Given the description of an element on the screen output the (x, y) to click on. 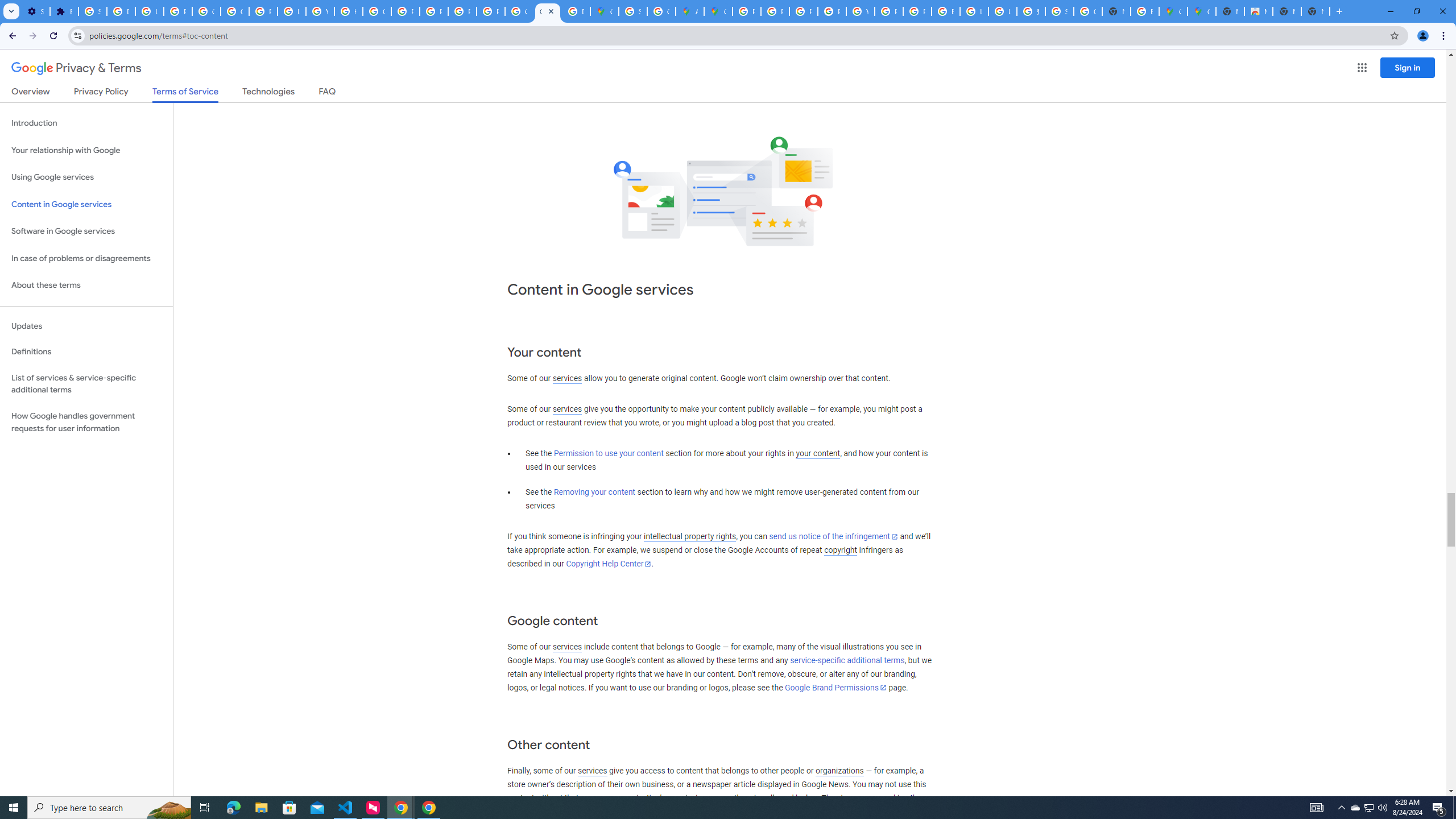
Sign in - Google Accounts (632, 11)
intellectual property rights (689, 536)
Extensions (63, 11)
Browse Chrome as a guest - Computer - Google Chrome Help (945, 11)
List of services & service-specific additional terms (86, 383)
Google Maps (1173, 11)
Google Maps (718, 11)
Definitions (86, 352)
Updates (86, 325)
organizations (839, 770)
